Given the description of an element on the screen output the (x, y) to click on. 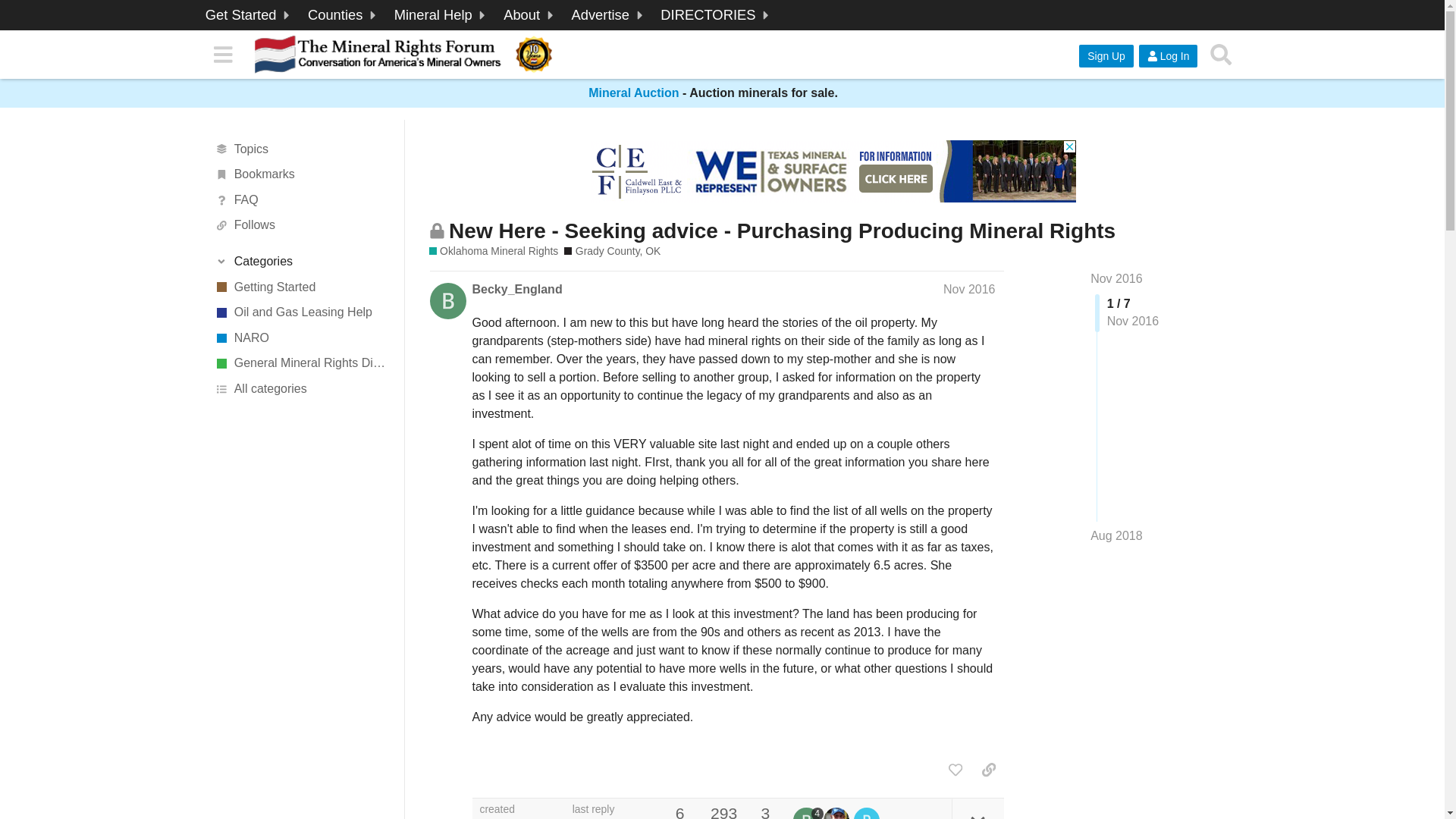
Mineral Help (441, 15)
Get Started (249, 15)
DIRECTORIES (715, 15)
About (530, 15)
Counties (344, 15)
Advertise (608, 15)
Owner Education (441, 15)
